Given the description of an element on the screen output the (x, y) to click on. 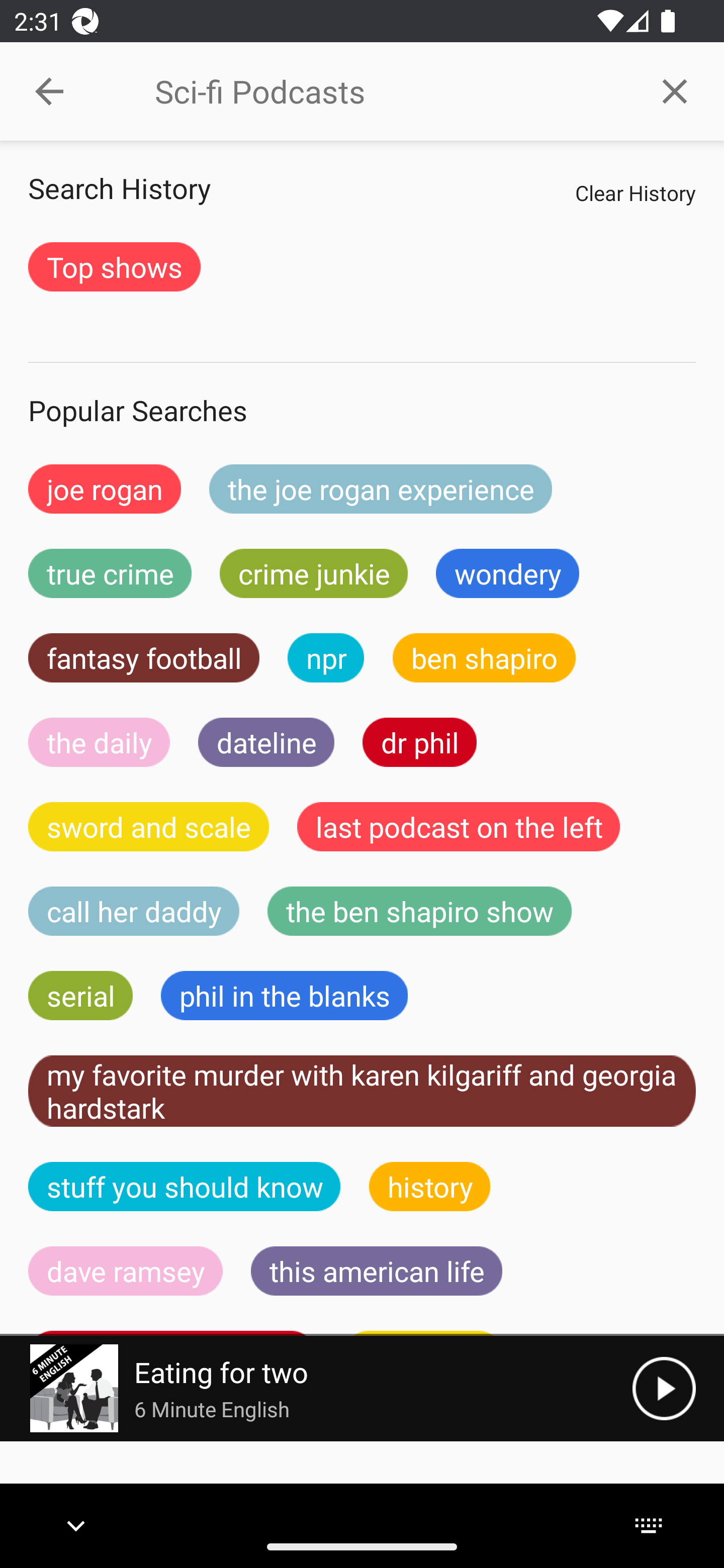
Collapse (49, 91)
Clear query (674, 90)
Sci-fi Podcasts (389, 91)
Clear History (634, 192)
Top shows (114, 266)
joe rogan (104, 489)
the joe rogan experience (380, 489)
true crime (109, 572)
crime junkie (313, 572)
wondery (507, 572)
fantasy football (143, 657)
npr (325, 657)
ben shapiro (483, 657)
the daily (99, 742)
dateline (266, 742)
dr phil (419, 742)
sword and scale (148, 826)
last podcast on the left (458, 826)
call her daddy (133, 910)
the ben shapiro show (419, 910)
serial (80, 995)
phil in the blanks (283, 995)
stuff you should know (184, 1185)
history (429, 1185)
dave ramsey (125, 1270)
this american life (376, 1270)
Picture Eating for two 6 Minute English (316, 1388)
Play (663, 1388)
